Given the description of an element on the screen output the (x, y) to click on. 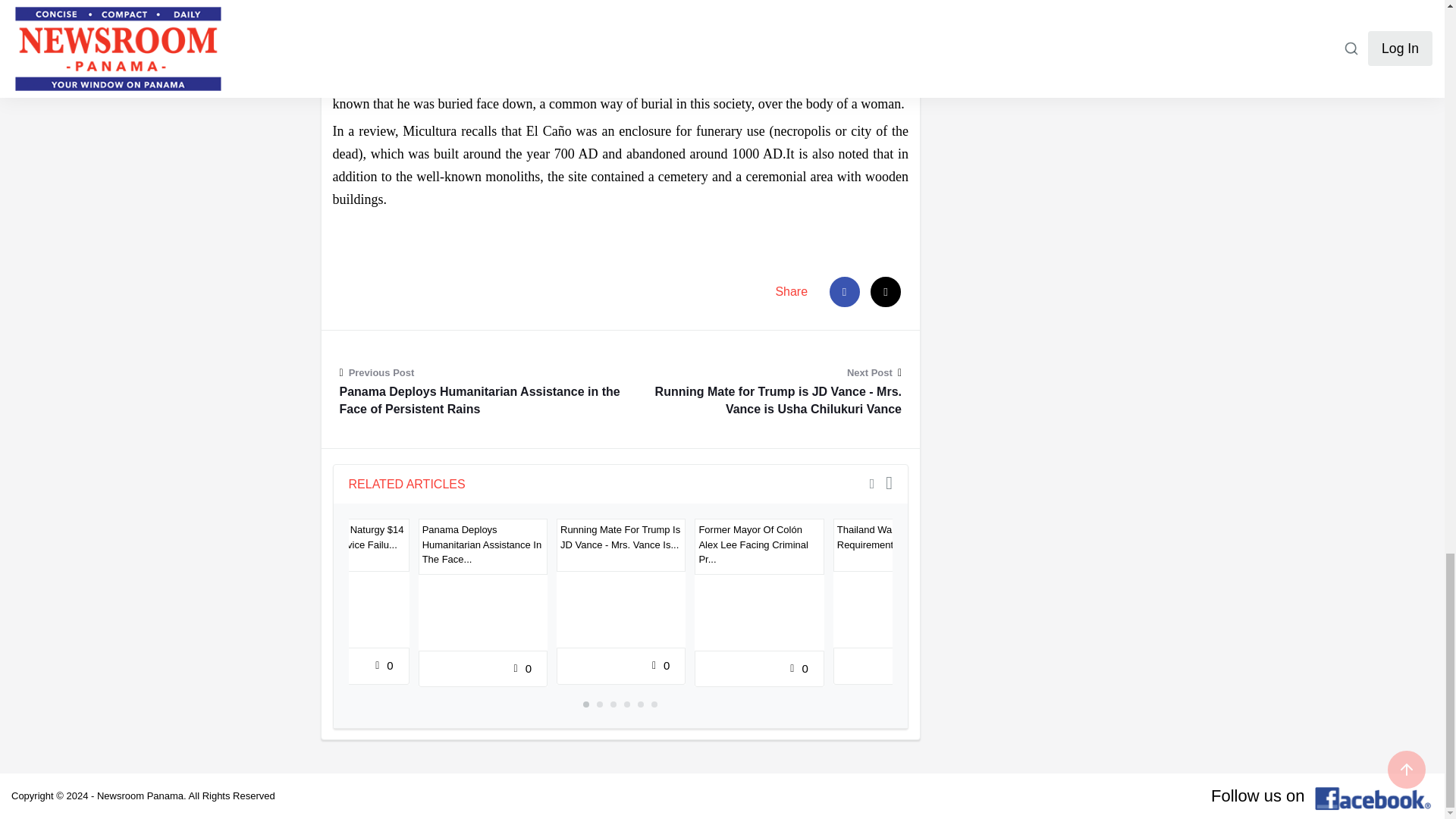
facebook (844, 291)
Mail (885, 291)
